Given the description of an element on the screen output the (x, y) to click on. 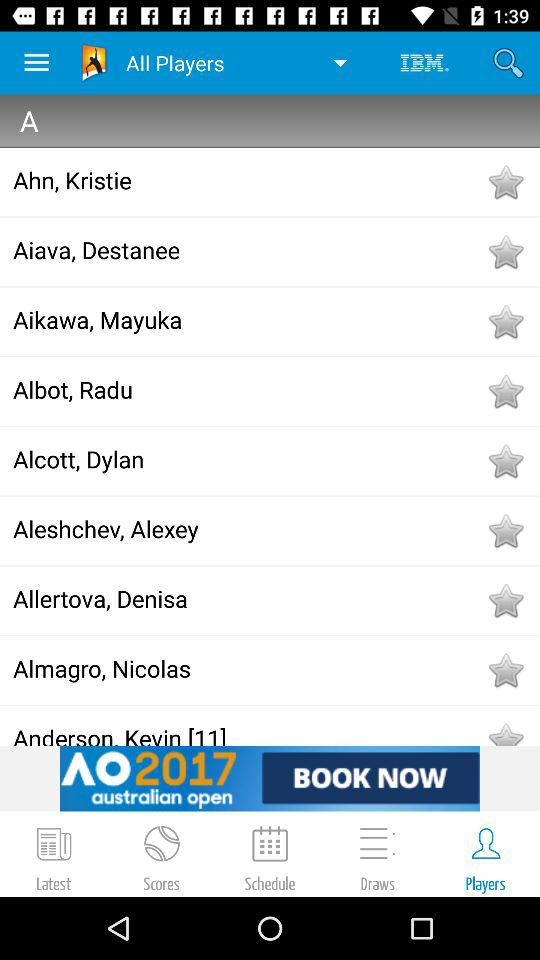
add to favorites (505, 732)
